Given the description of an element on the screen output the (x, y) to click on. 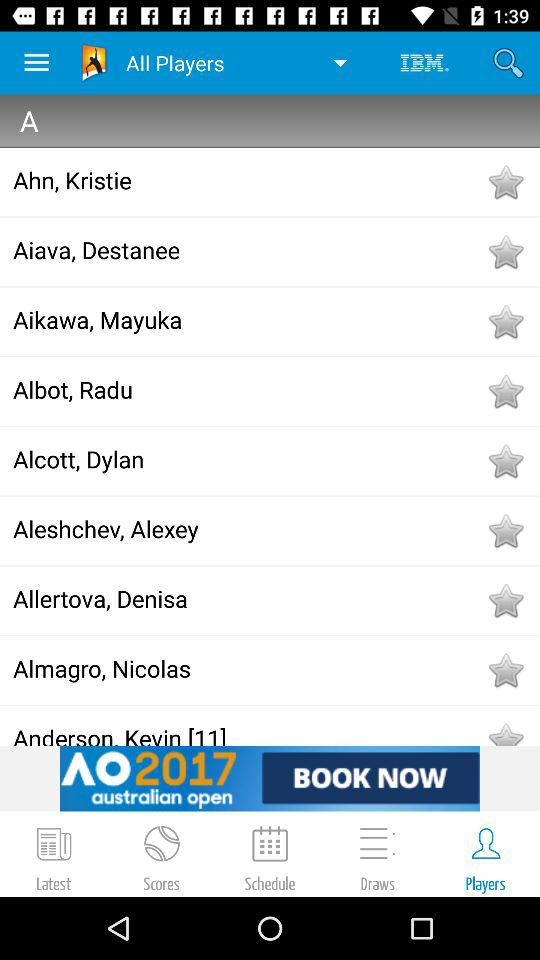
add to favorites (505, 732)
